Given the description of an element on the screen output the (x, y) to click on. 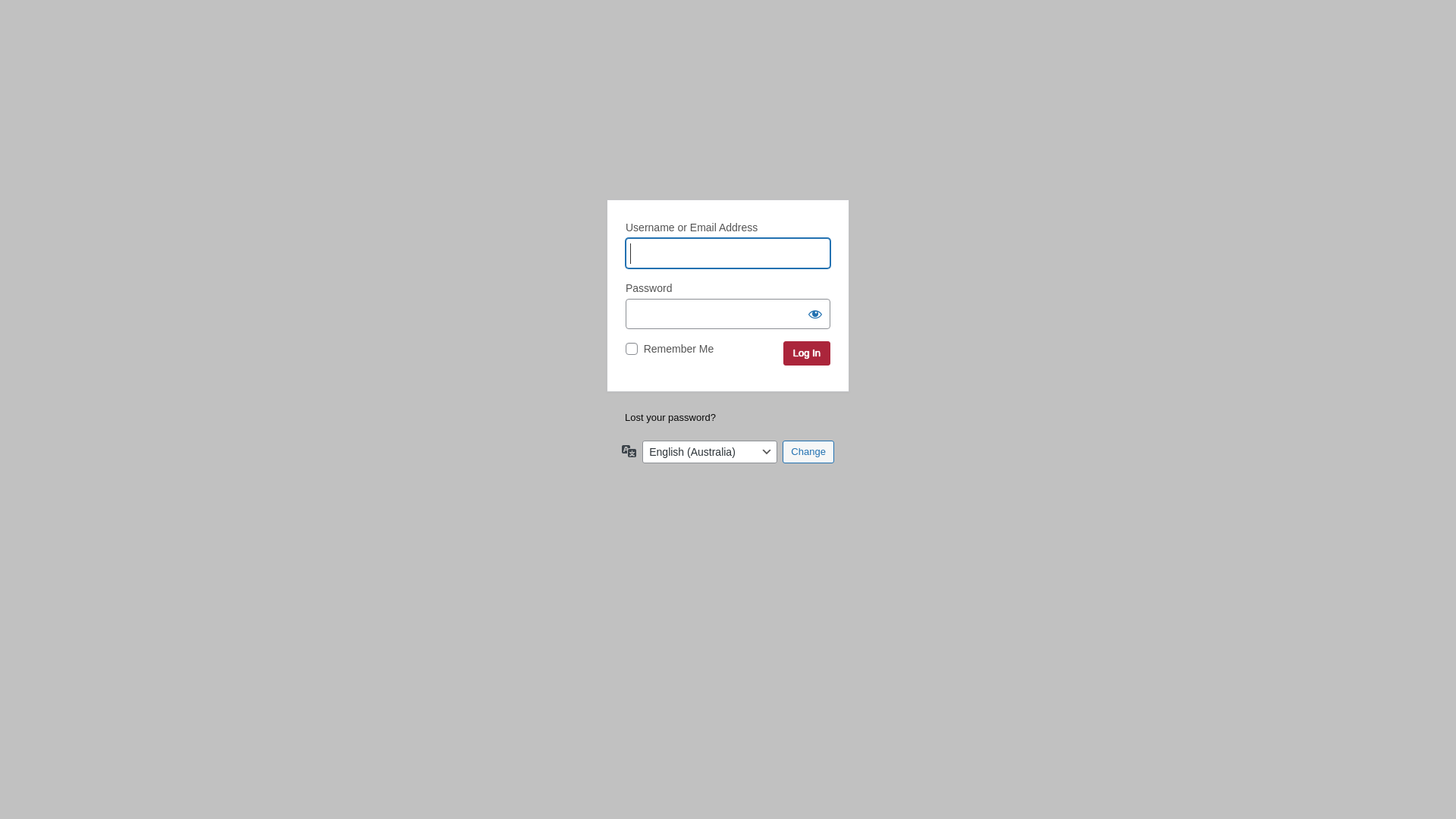
Lost your password? Element type: text (669, 417)
Log In Element type: text (806, 353)
PCYC Merchandise Store Element type: text (727, 126)
Change Element type: text (808, 450)
